Given the description of an element on the screen output the (x, y) to click on. 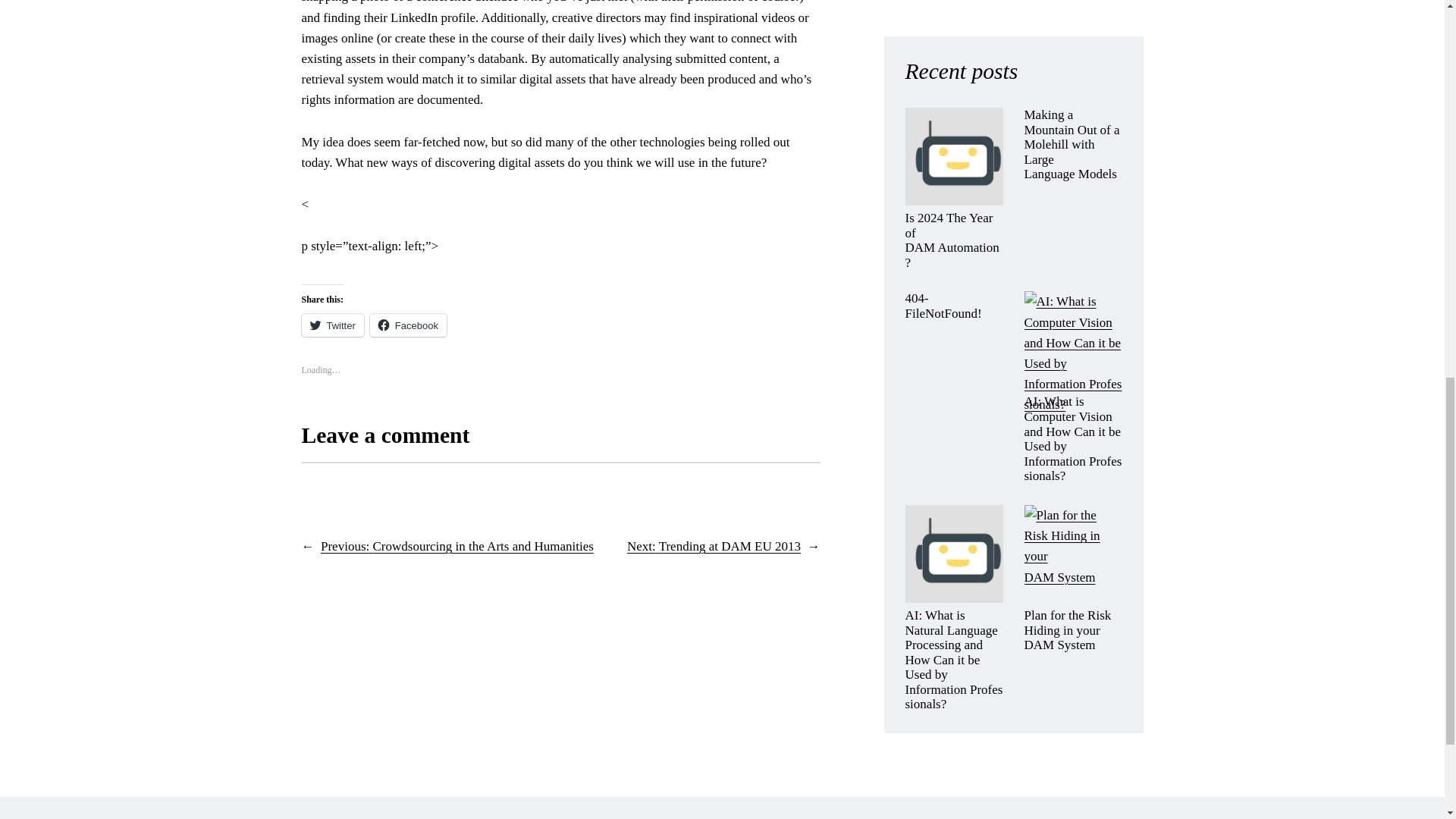
Click to share on Twitter (332, 324)
Is 2024 The Year of DAM Automation? (954, 240)
Click to share on Facebook (407, 324)
Plan for the Risk Hiding in your DAM System (1072, 630)
Next: Trending at DAM EU 2013 (713, 545)
Previous: Crowdsourcing in the Arts and Humanities (457, 545)
Facebook (407, 324)
